Given the description of an element on the screen output the (x, y) to click on. 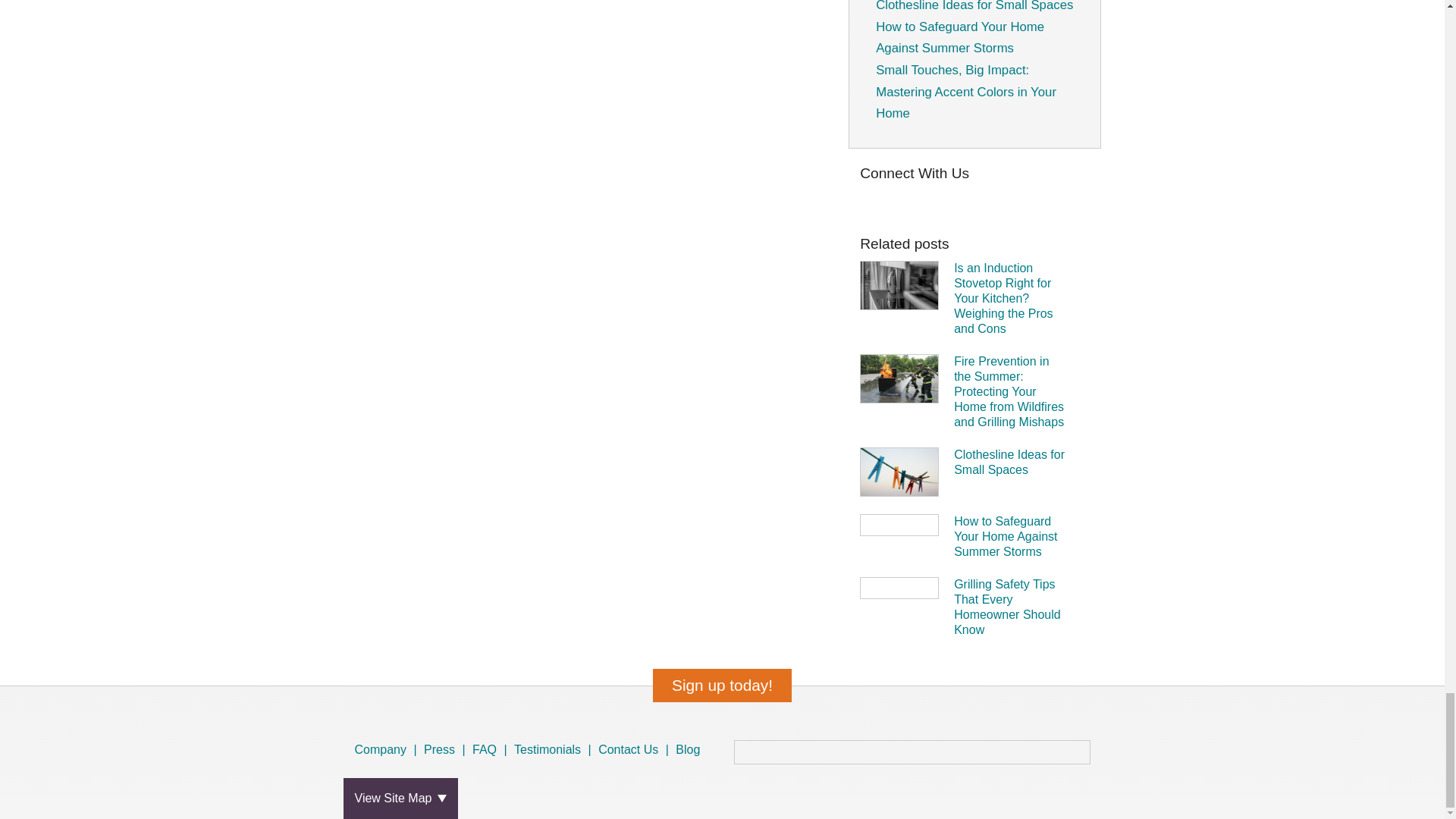
How to Safeguard Your Home Against Summer Storms (1010, 536)
Follow on LinkedIn (1015, 196)
Follow on Youtube (1063, 196)
Follow on Youtube (443, 789)
Follow on Google (1039, 196)
Clothesline Ideas for Small Spaces (1010, 462)
Follow on Twitter (884, 196)
Follow on LinkedIn (421, 789)
Follow on Twitter (377, 789)
